Given the description of an element on the screen output the (x, y) to click on. 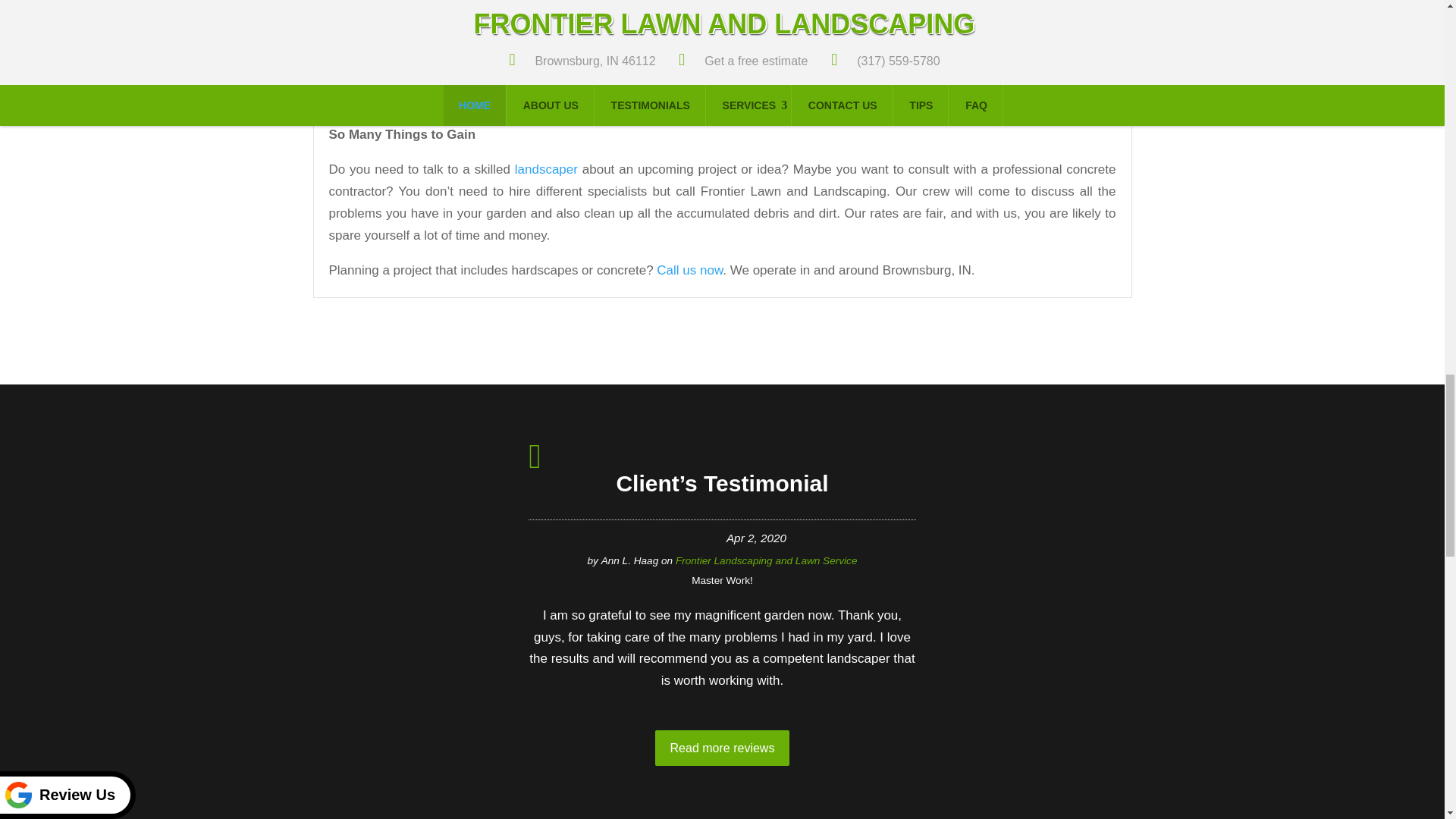
Read more reviews (722, 747)
Call us now (689, 269)
Frontier Landscaping and Lawn Service (766, 560)
landscaper (546, 169)
Get in touch with Frontier Landscaping and Lawn Service (689, 269)
